Given the description of an element on the screen output the (x, y) to click on. 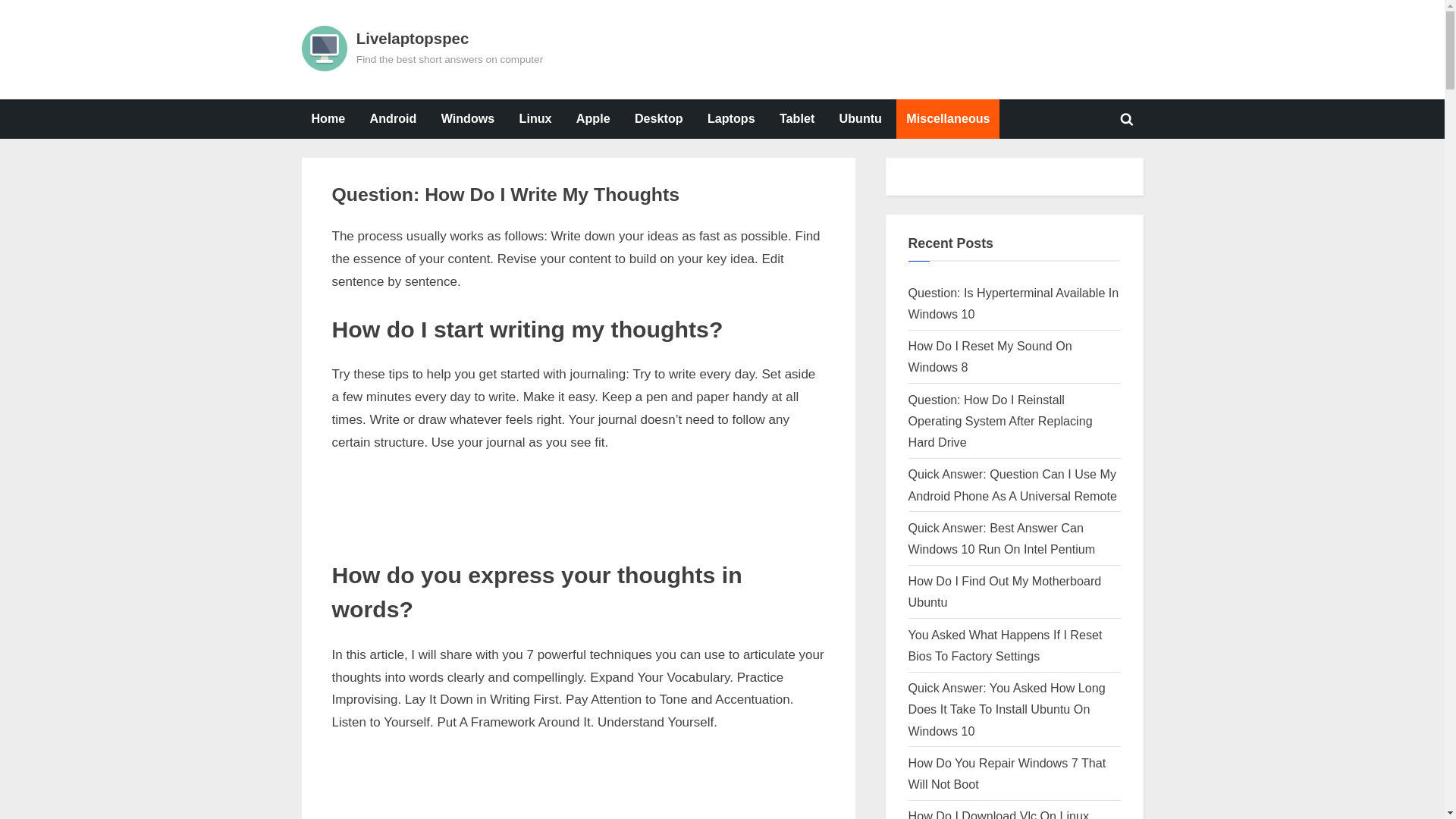
Toggle search form (1126, 118)
Tablet (797, 118)
You Asked What Happens If I Reset Bios To Factory Settings (1005, 645)
Desktop (658, 118)
How Do I Find Out My Motherboard Ubuntu (1005, 591)
Apple (593, 118)
Question: Is Hyperterminal Available In Windows 10 (1013, 303)
Miscellaneous (947, 118)
Linux (535, 118)
